Given the description of an element on the screen output the (x, y) to click on. 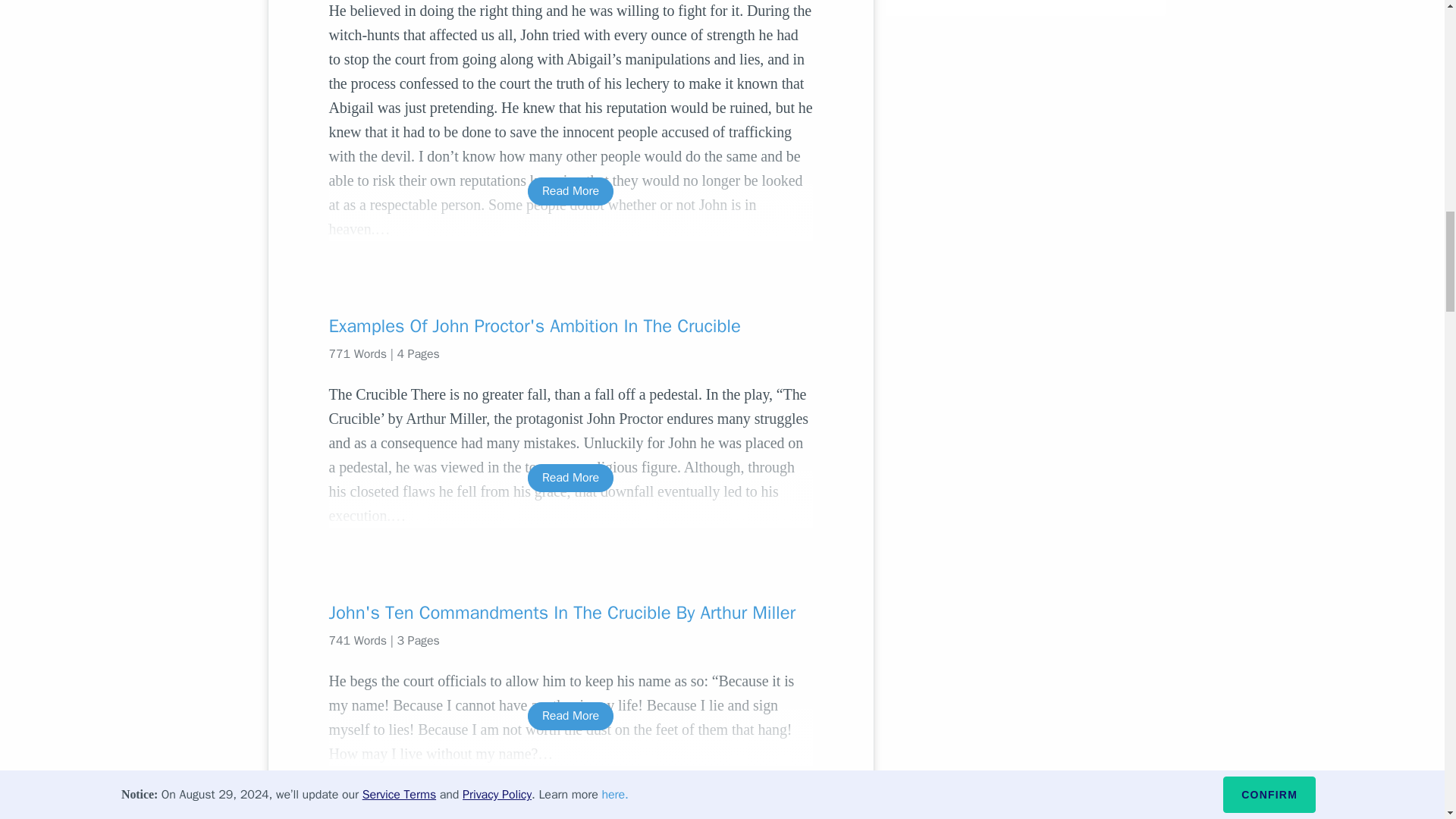
John's Ten Commandments In The Crucible By Arthur Miller (570, 612)
Read More (569, 478)
Read More (569, 715)
Examples Of John Proctor's Ambition In The Crucible (570, 325)
Read More (569, 191)
